Given the description of an element on the screen output the (x, y) to click on. 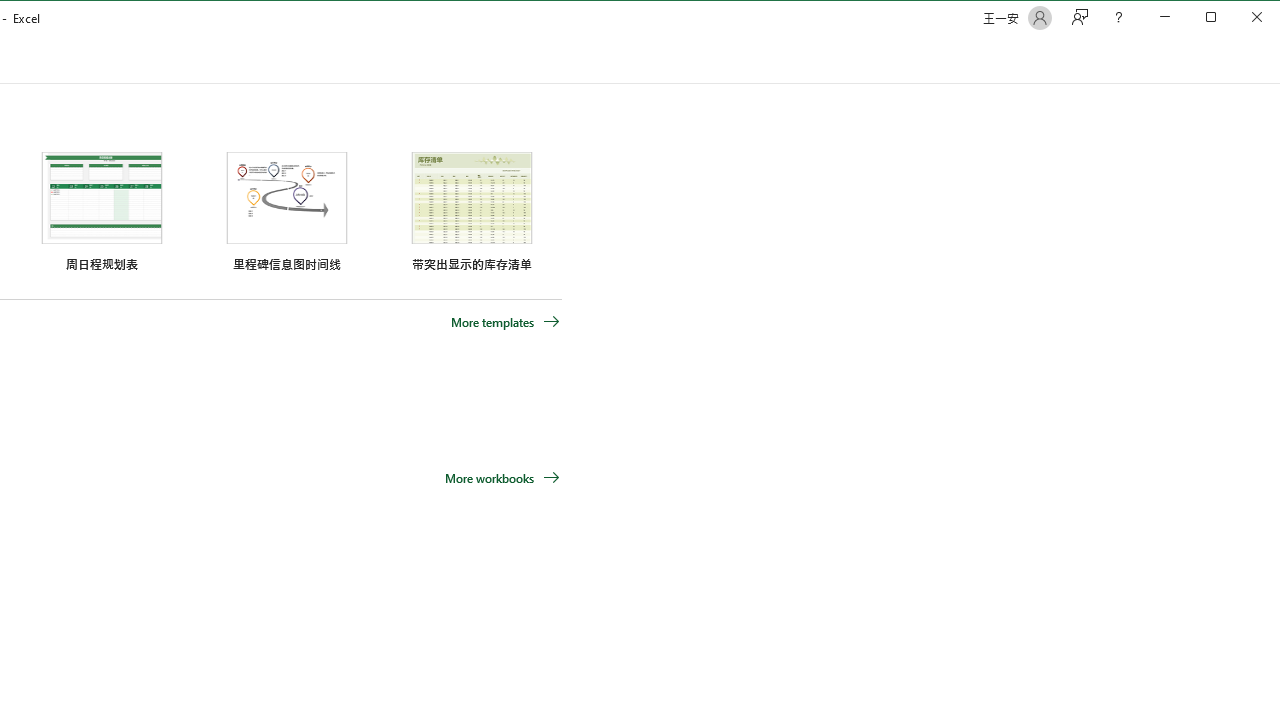
More templates (505, 321)
More workbooks (501, 478)
